Given the description of an element on the screen output the (x, y) to click on. 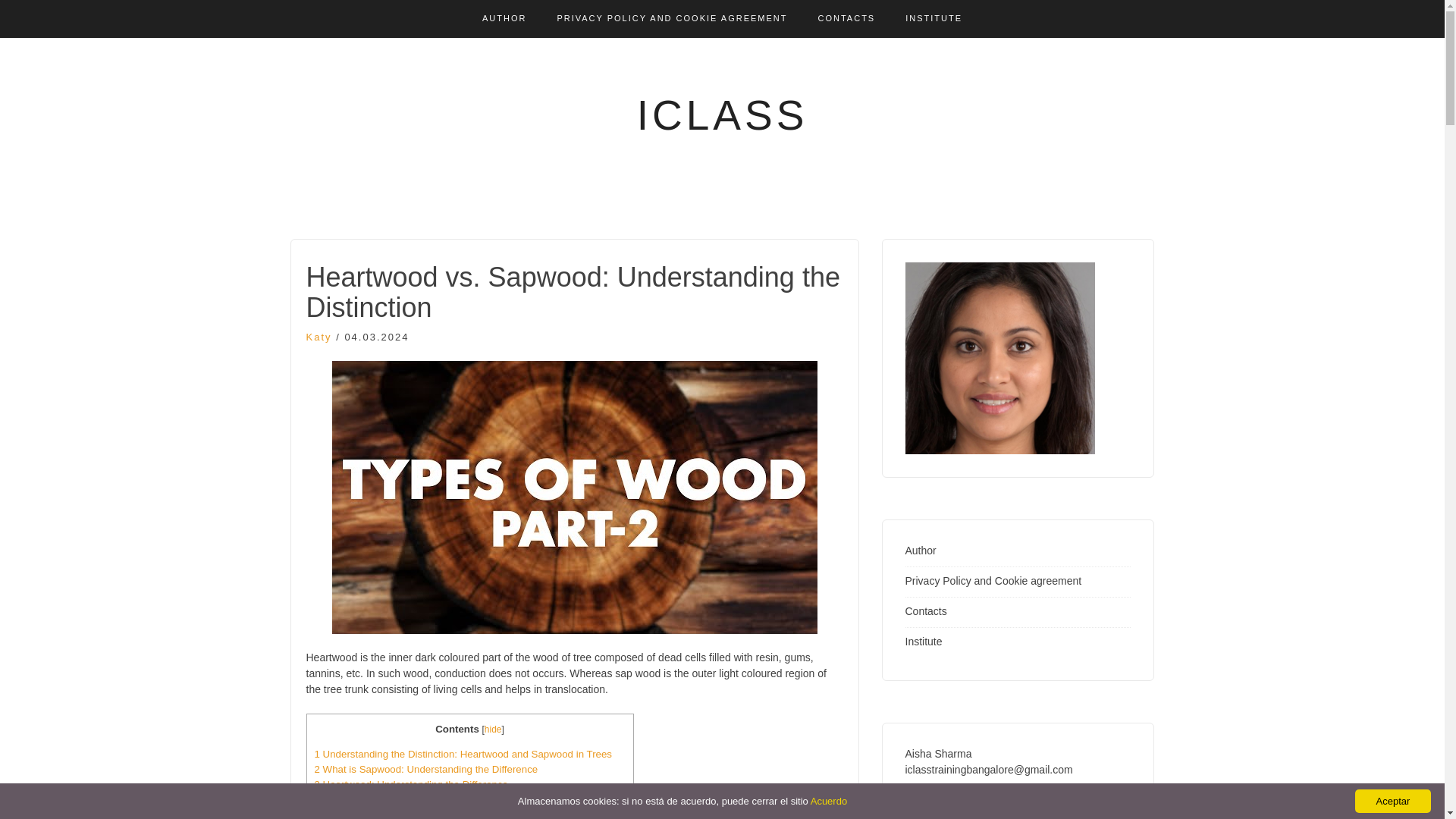
Institute (923, 641)
CONTACTS (847, 18)
Privacy Policy and Cookie agreement (993, 580)
3 Heartwood: Understanding the Difference (411, 784)
Author (920, 550)
INSTITUTE (933, 18)
AUTHOR (503, 18)
2 What is Sapwood: Understanding the Difference (425, 768)
PRIVACY POLICY AND COOKIE AGREEMENT (671, 18)
Contacts (926, 611)
ICLASS (722, 114)
hide (493, 728)
5 Importance of Sapwood and Heartwood (406, 814)
